Given the description of an element on the screen output the (x, y) to click on. 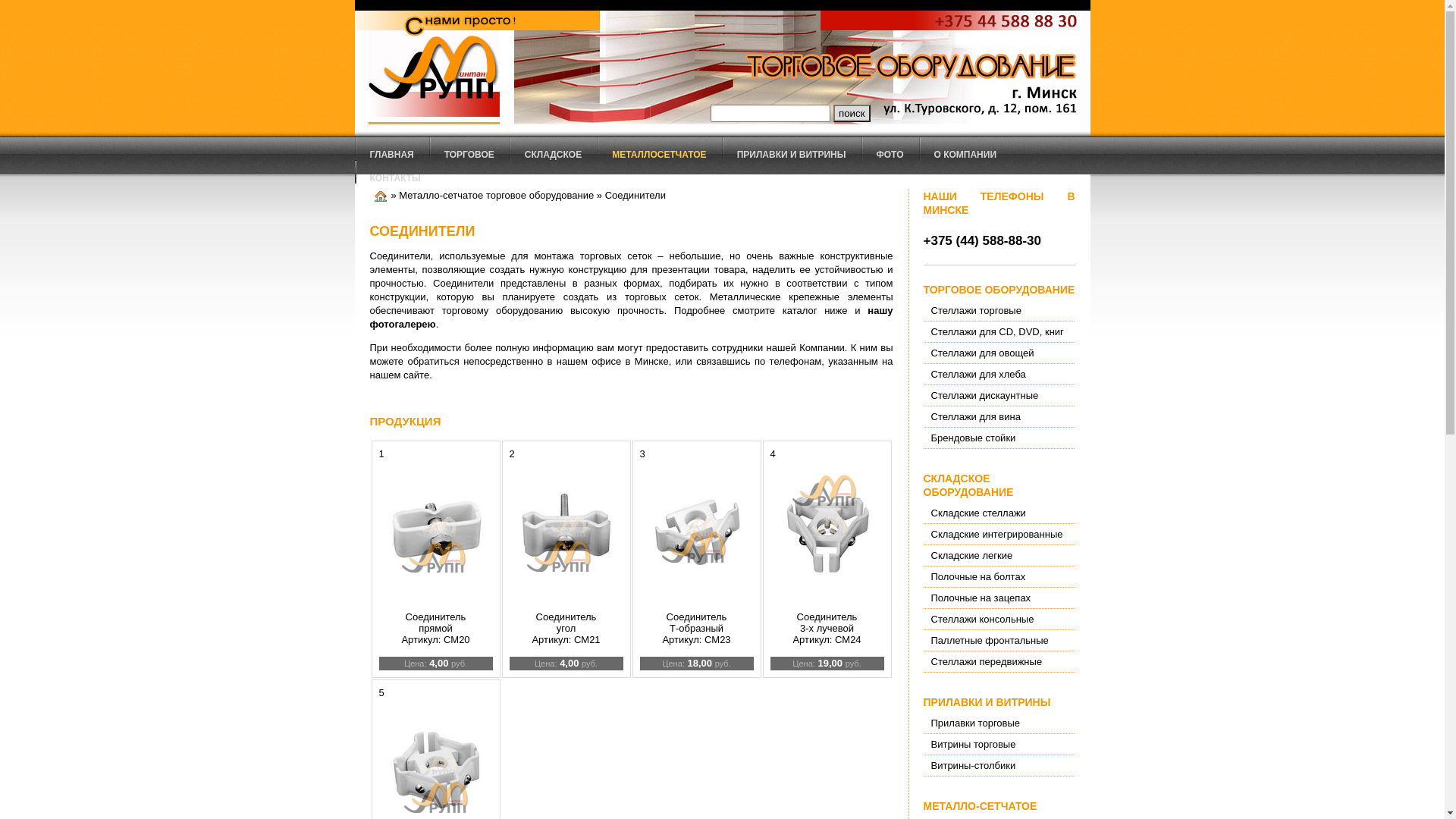
+375 (44) 588-88-30 Element type: text (982, 240)
